Given the description of an element on the screen output the (x, y) to click on. 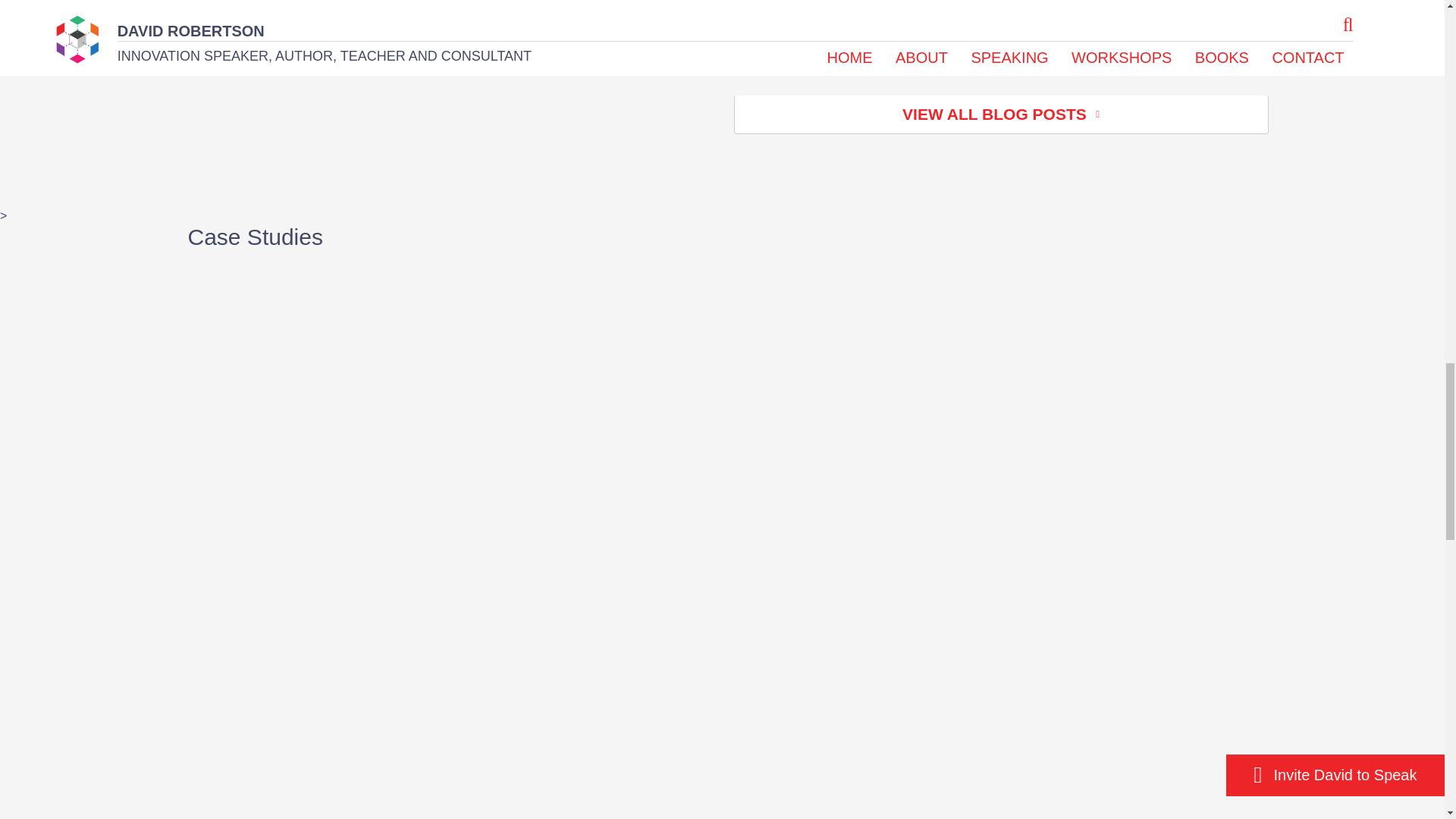
VIEW ALL BLOG POSTS (1000, 114)
